Given the description of an element on the screen output the (x, y) to click on. 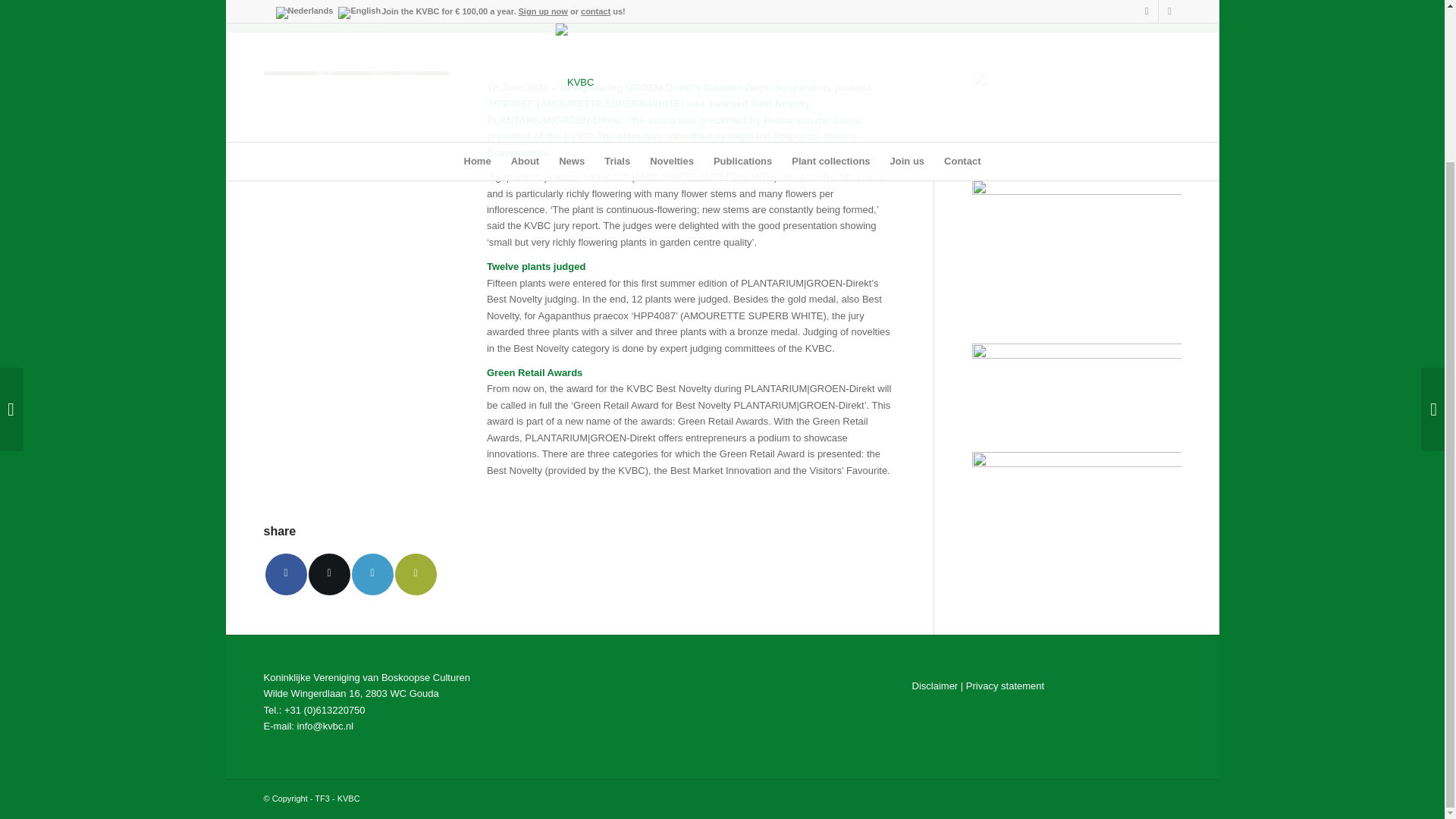
KVBC (943, 10)
Home (943, 10)
Agapanthus AMOURETTE SUPERB WHITE Best Novelty (419, 10)
